Given the description of an element on the screen output the (x, y) to click on. 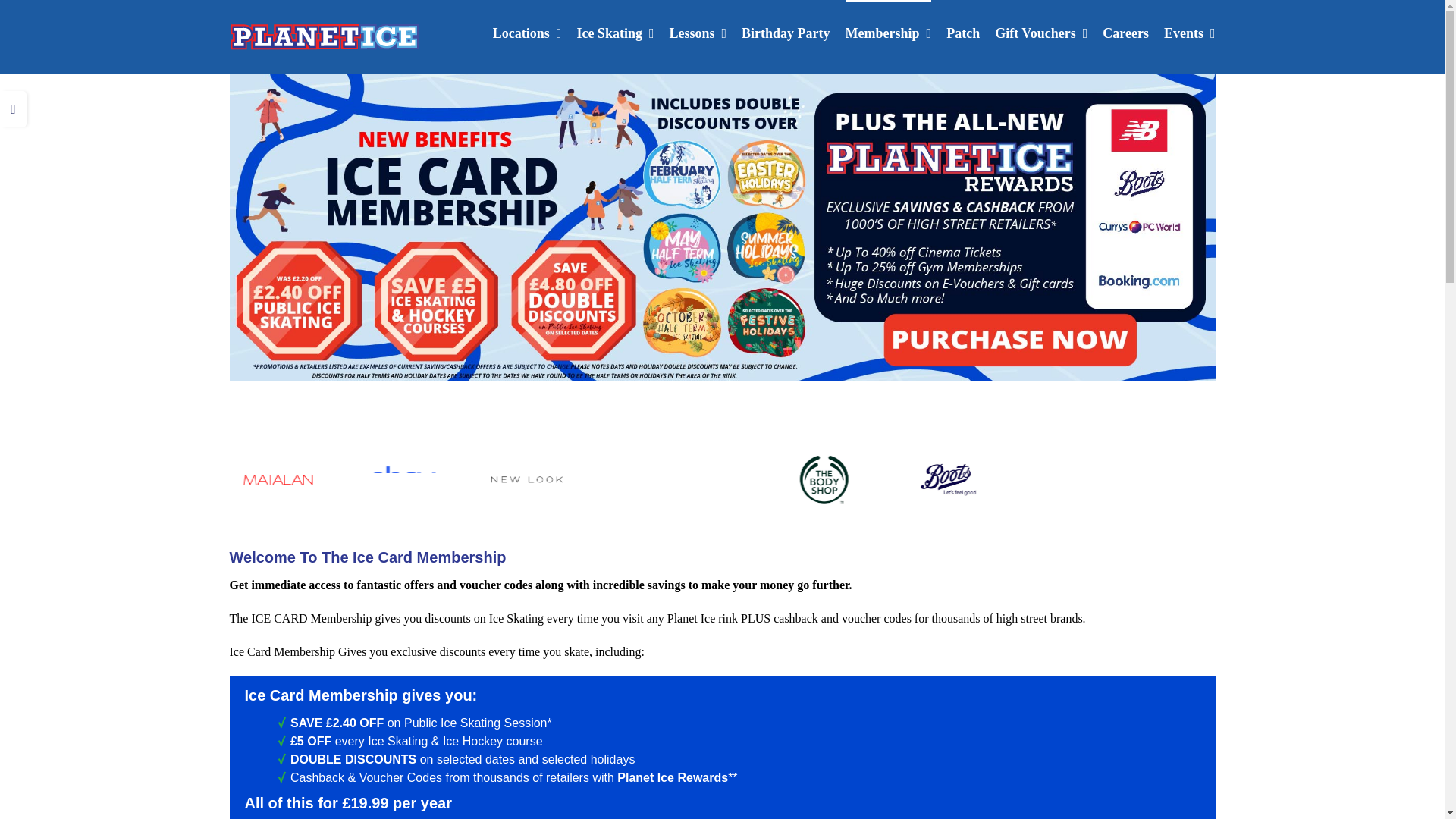
Locations (527, 31)
Ice Skating (614, 31)
Gift Vouchers (1040, 31)
Lessons (697, 31)
Birthday Party (785, 31)
Membership (888, 31)
